Given the description of an element on the screen output the (x, y) to click on. 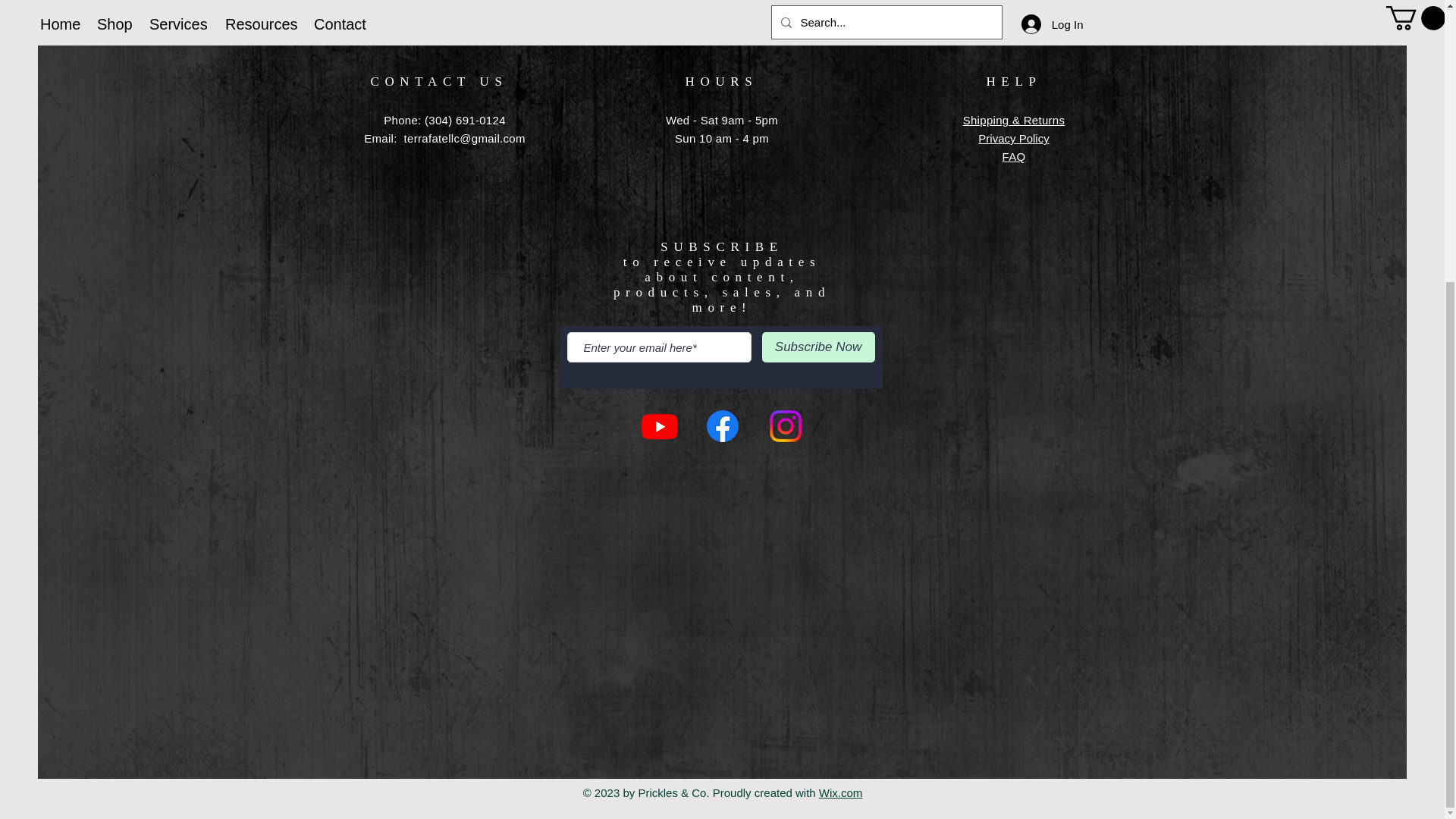
FAQ (1014, 155)
Privacy Policy (1013, 137)
Subscribe Now (818, 347)
Wix.com (840, 792)
Sun 10 am - 4 pm (721, 137)
Wed - Sat 9am - 5pm (721, 119)
